Given the description of an element on the screen output the (x, y) to click on. 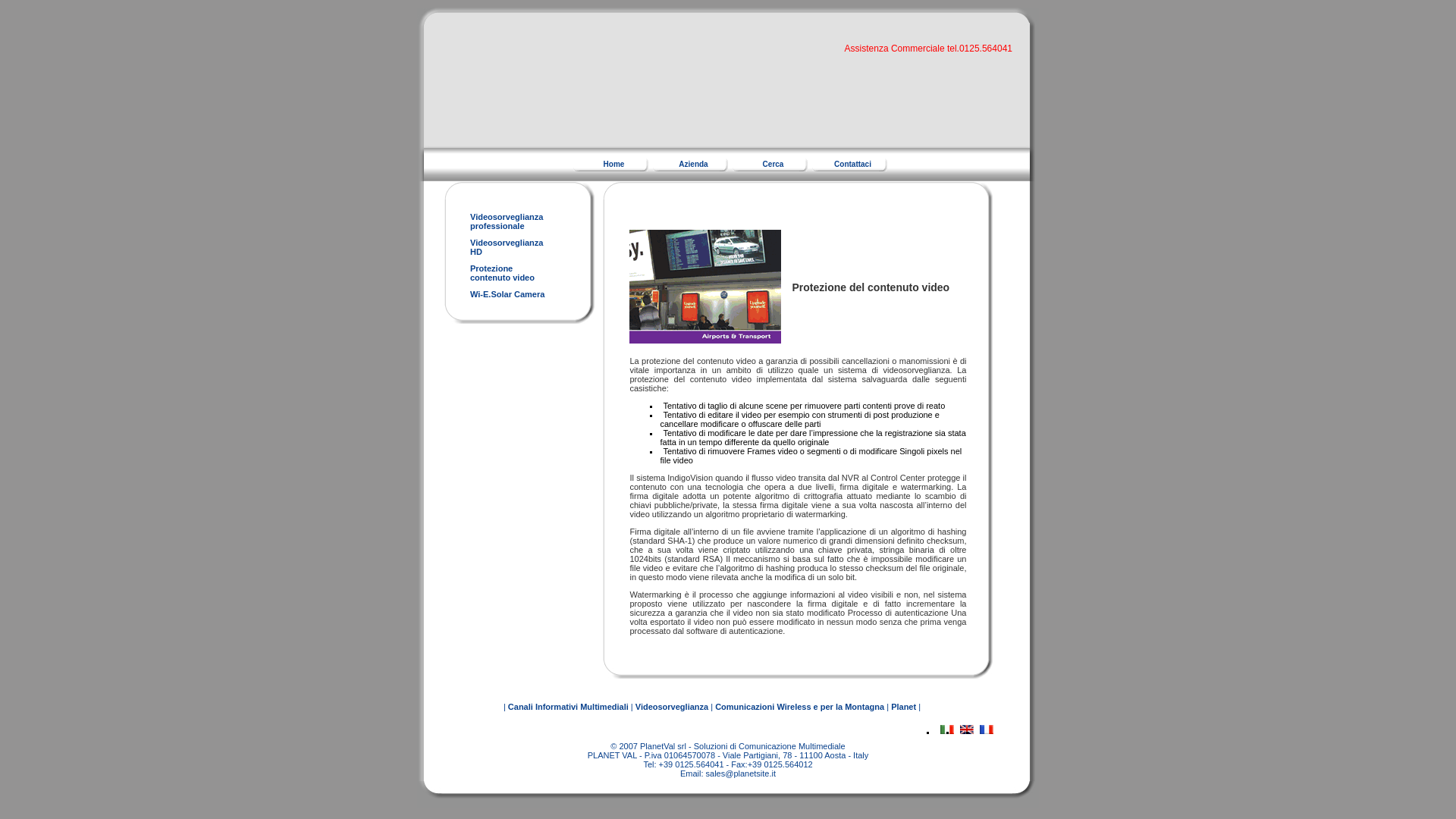
Planet (506, 221)
Home (903, 706)
Wi-E.Solar Camera (609, 162)
Videosorveglianza (507, 293)
Comunicazioni Wireless e per la Montagna (506, 247)
Azienda (670, 706)
Cerca (798, 706)
Contattaci (690, 162)
Canali Informativi Multimediali (770, 162)
